Given the description of an element on the screen output the (x, y) to click on. 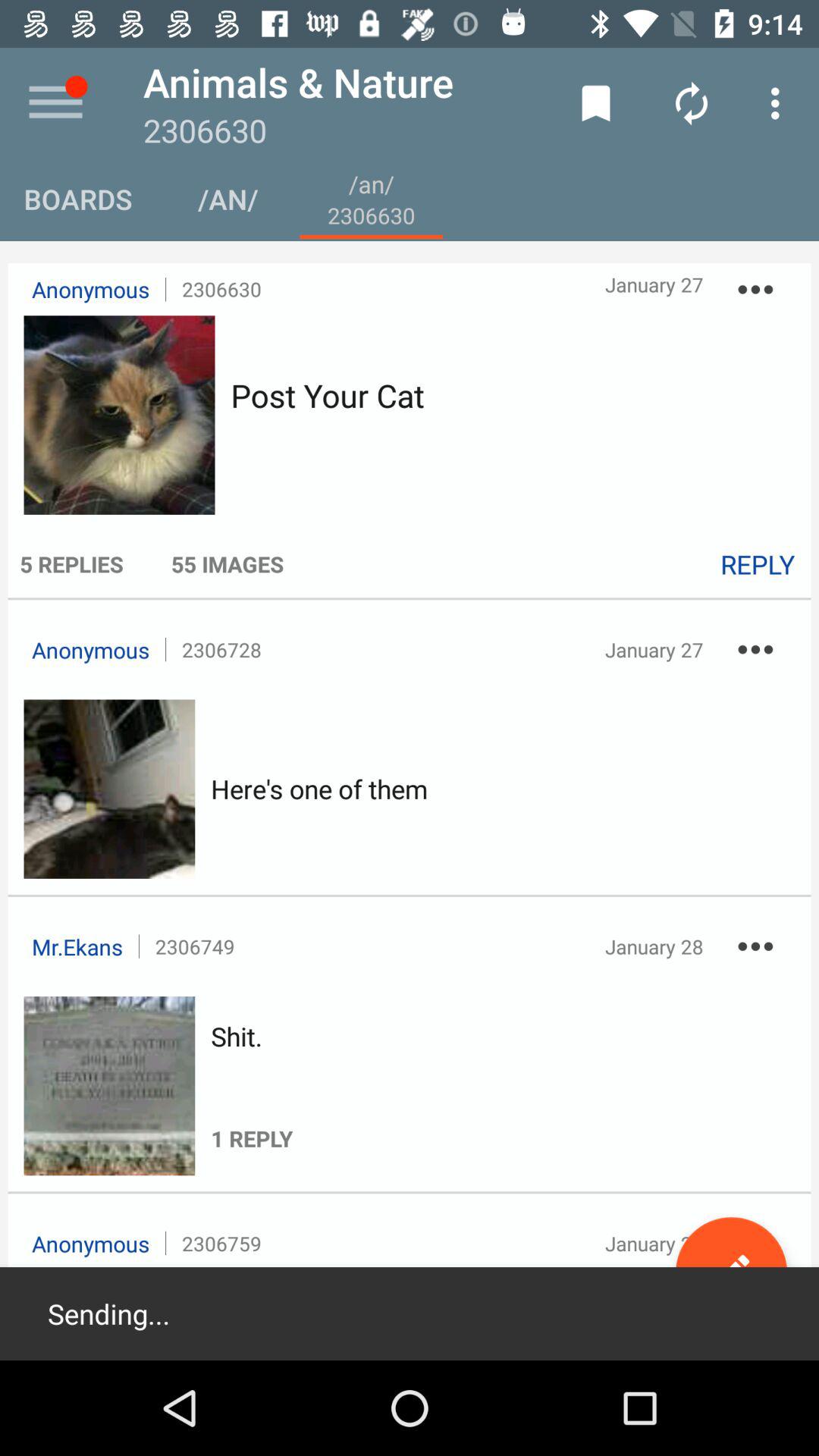
select item next to the 6 replies item (227, 563)
